Given the description of an element on the screen output the (x, y) to click on. 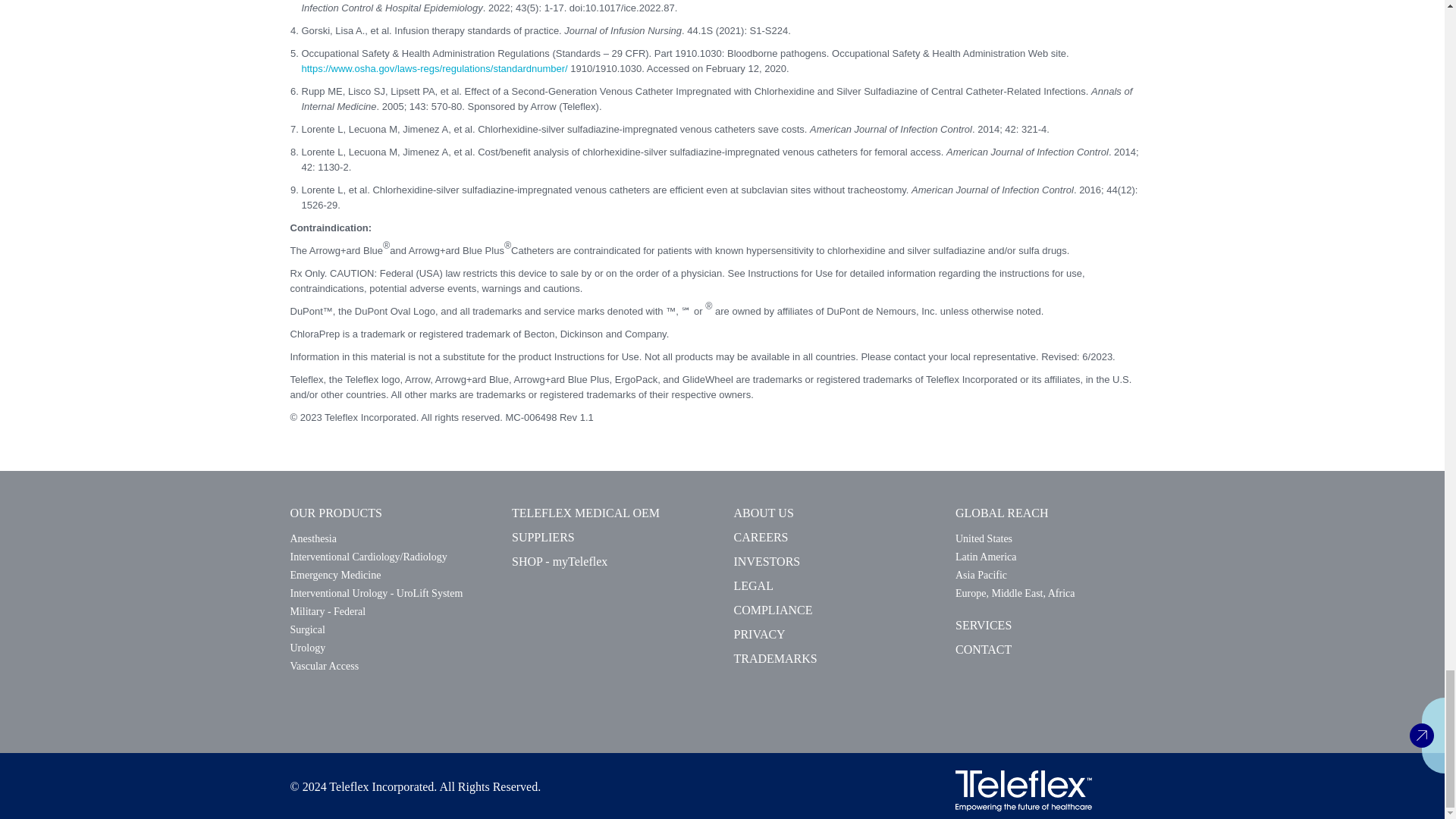
Emergency Medicine (334, 574)
OUR PRODUCTS (335, 512)
Vascular Access (323, 665)
Surgical (306, 629)
Military - Federal (327, 611)
Anesthesia (312, 538)
SUPPLIERS (543, 536)
Interventional Urology - UroLift System (376, 593)
Urology (306, 647)
TELEFLEX MEDICAL OEM (585, 512)
